Given the description of an element on the screen output the (x, y) to click on. 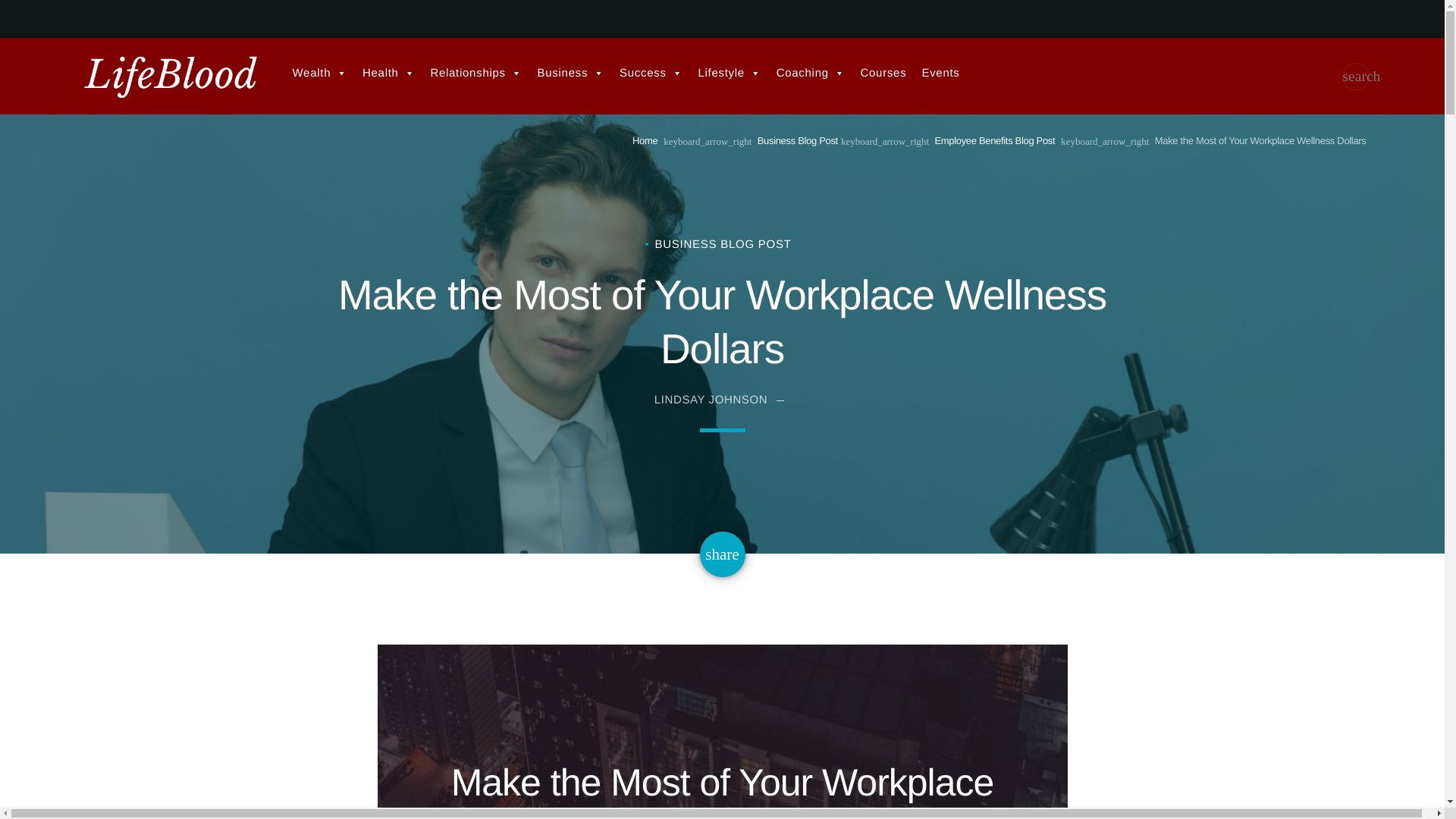
Business (570, 73)
Health (388, 73)
Relationships (475, 73)
Success (650, 73)
Wealth (320, 73)
Lifestyle (729, 73)
